Given the description of an element on the screen output the (x, y) to click on. 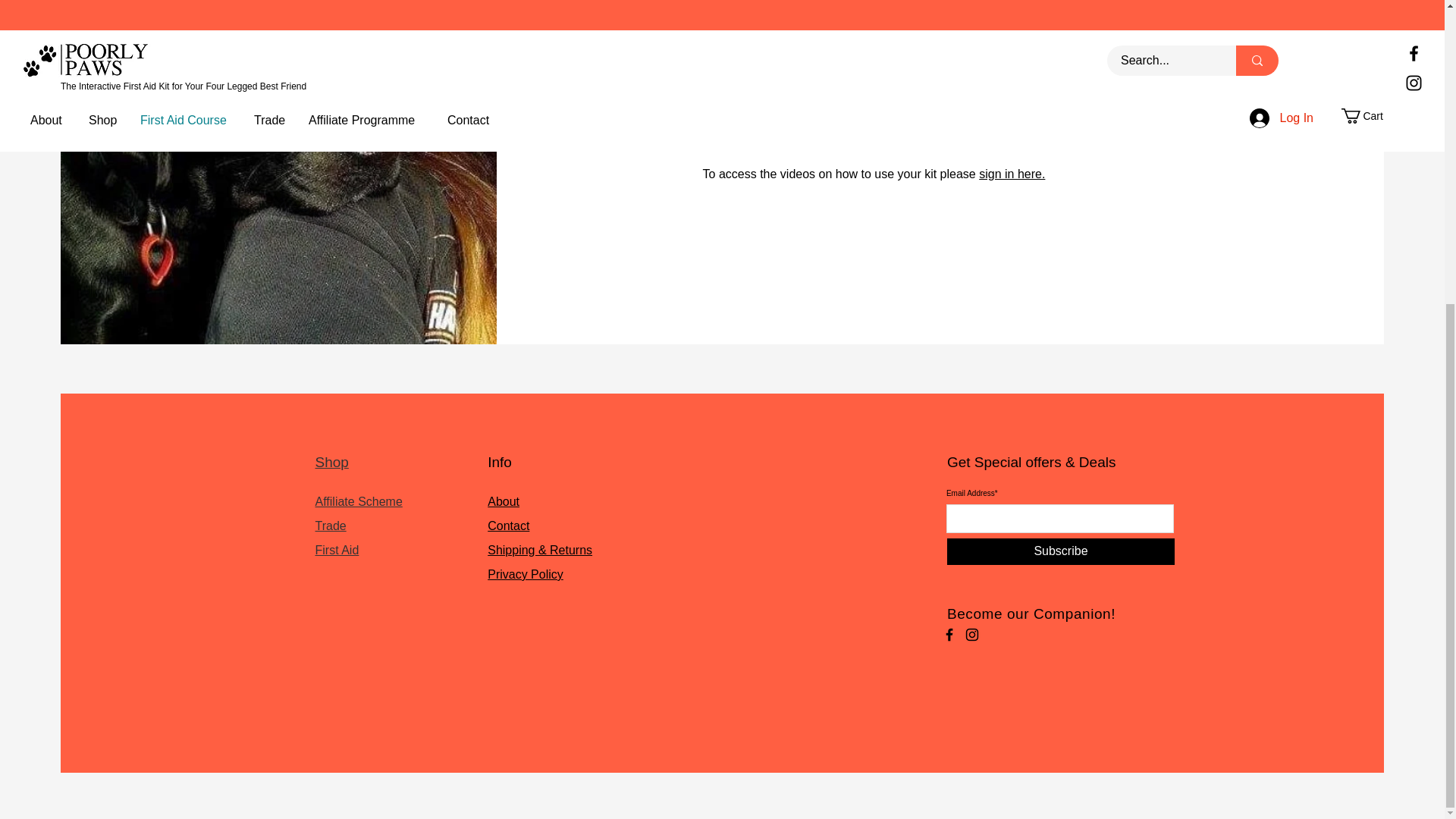
Subscribe (1060, 551)
Trade (330, 525)
Contact (508, 525)
Affiliate Scheme (359, 501)
First Aid (337, 549)
Shop (332, 462)
Privacy Policy (525, 574)
sign in here. (1011, 173)
About (503, 501)
